Given the description of an element on the screen output the (x, y) to click on. 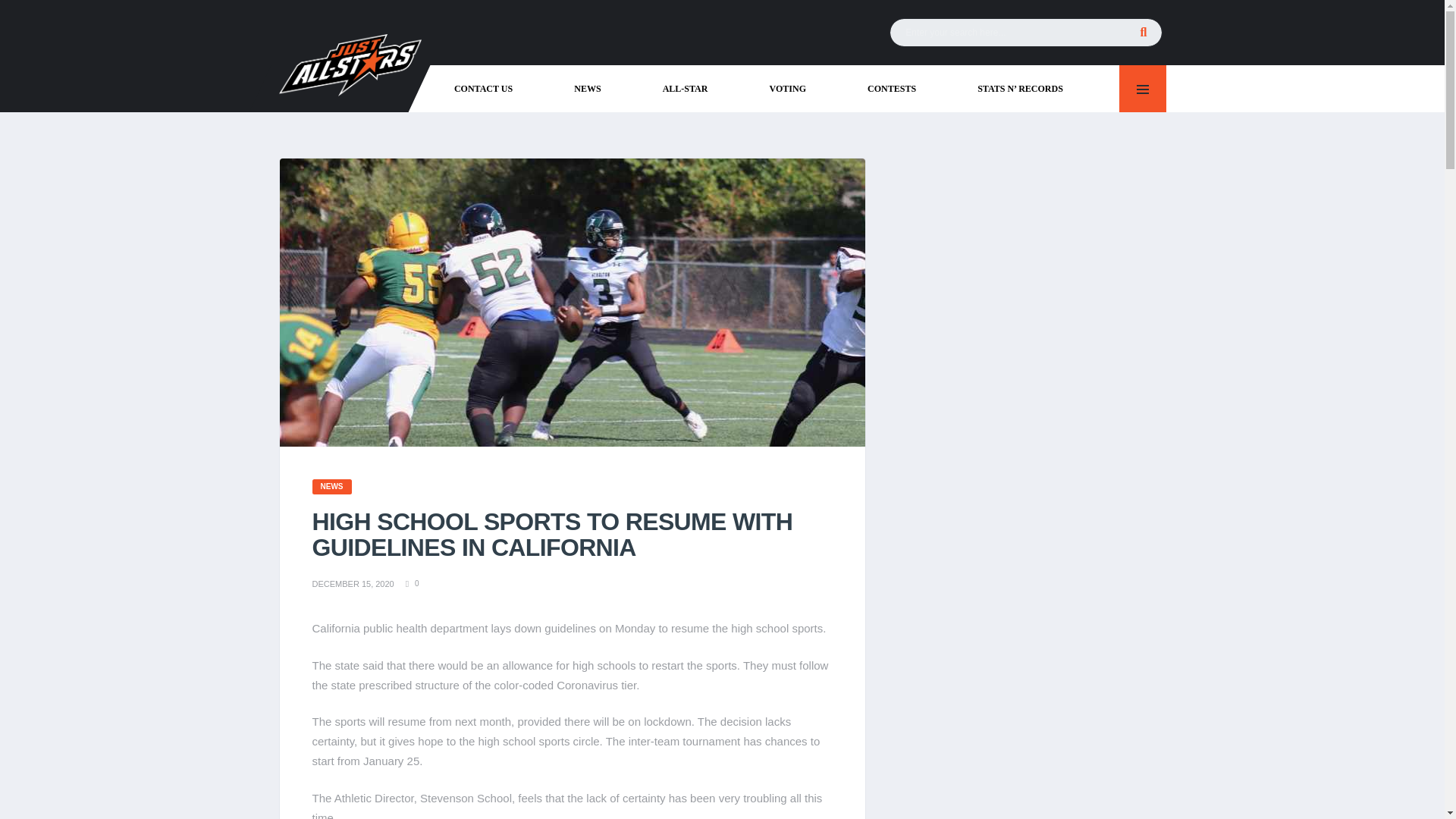
NEWS (592, 88)
CONTACT US (488, 88)
ALL-STAR (689, 88)
